Given the description of an element on the screen output the (x, y) to click on. 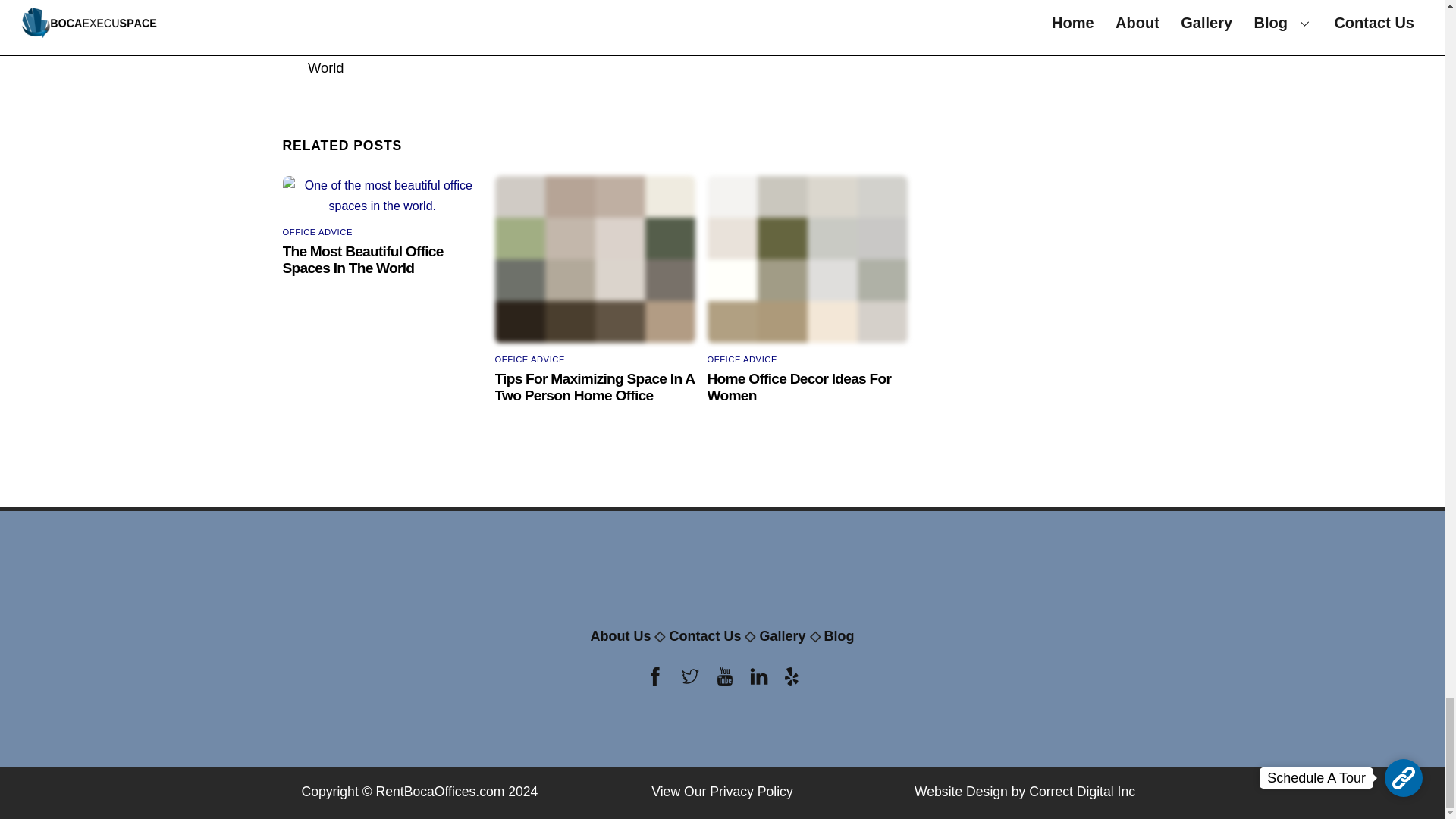
The Most Beautiful Office Spaces In The World (362, 259)
The Most Beautiful Office Spaces In The World (441, 57)
Home Office Decor Ideas For Women (799, 387)
OFFICE ADVICE (317, 231)
OFFICE ADVICE (742, 358)
OFFICE ADVICE (529, 358)
Tips For Maximizing Space In A Two Person Home Office (594, 387)
